Given the description of an element on the screen output the (x, y) to click on. 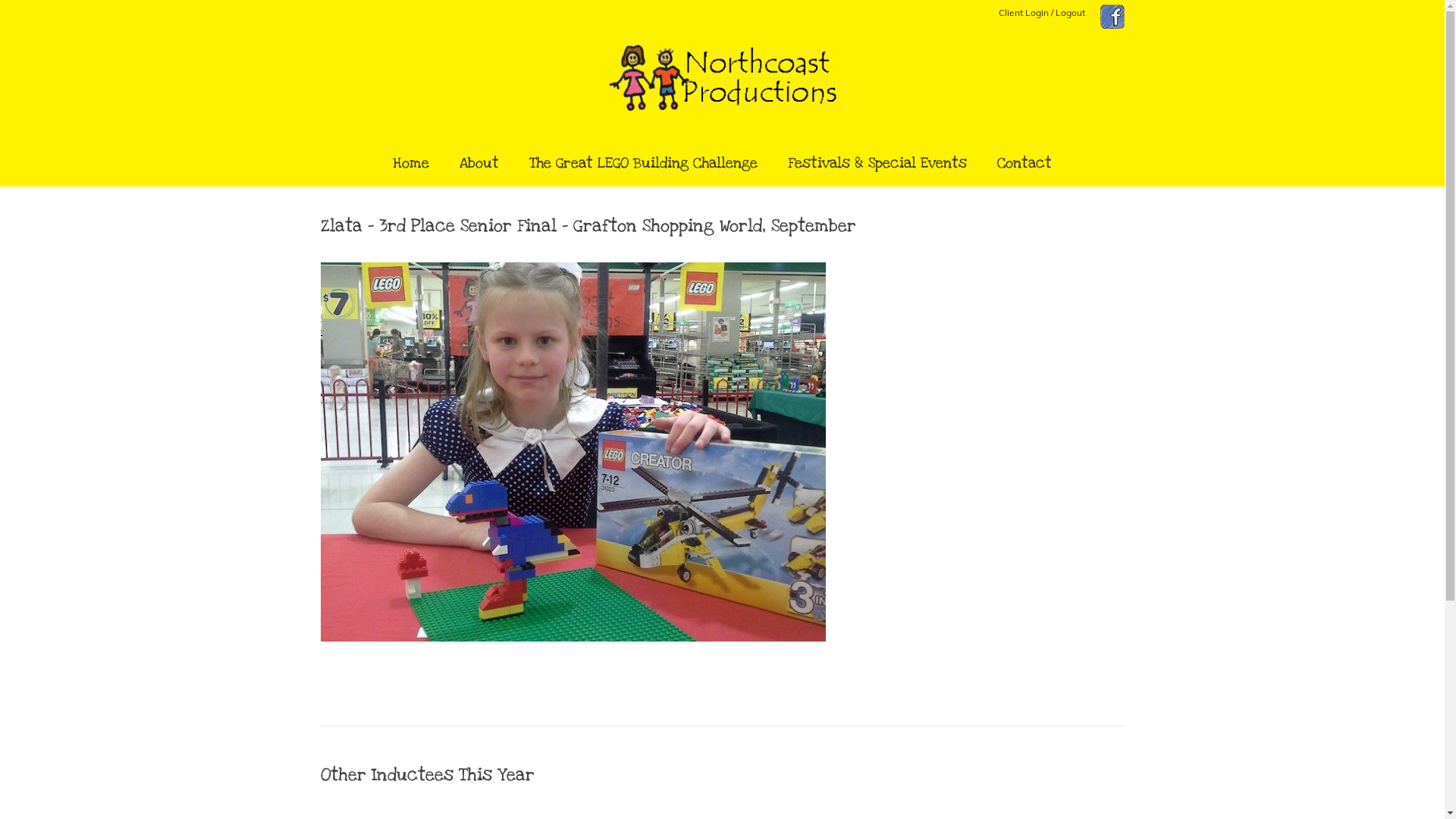
Northcoast Productions Element type: text (721, 85)
Follow us on Facebook Element type: hover (1103, 25)
Client Login / Logout Element type: text (1040, 12)
Contact Element type: text (1024, 163)
Festivals & Special Events Element type: text (876, 163)
About Element type: text (478, 163)
The Great LEGO Building Challenge Element type: text (643, 163)
Home Element type: text (410, 163)
